Given the description of an element on the screen output the (x, y) to click on. 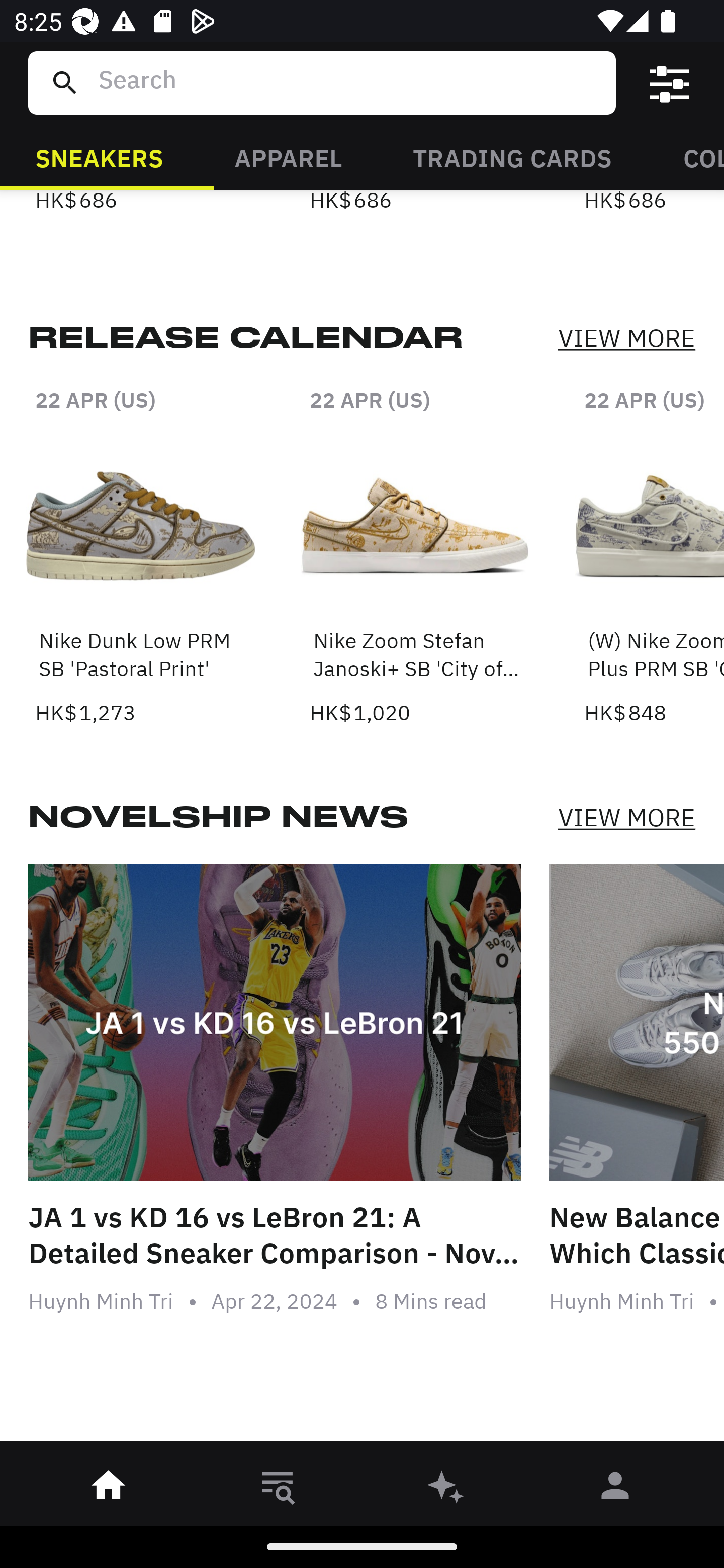
Search (349, 82)
 (669, 82)
SNEAKERS (99, 156)
APPAREL (287, 156)
TRADING CARDS (512, 156)
VIEW MORE (626, 338)
VIEW MORE (626, 816)
󰋜 (108, 1488)
󱎸 (277, 1488)
󰫢 (446, 1488)
󰀄 (615, 1488)
